Given the description of an element on the screen output the (x, y) to click on. 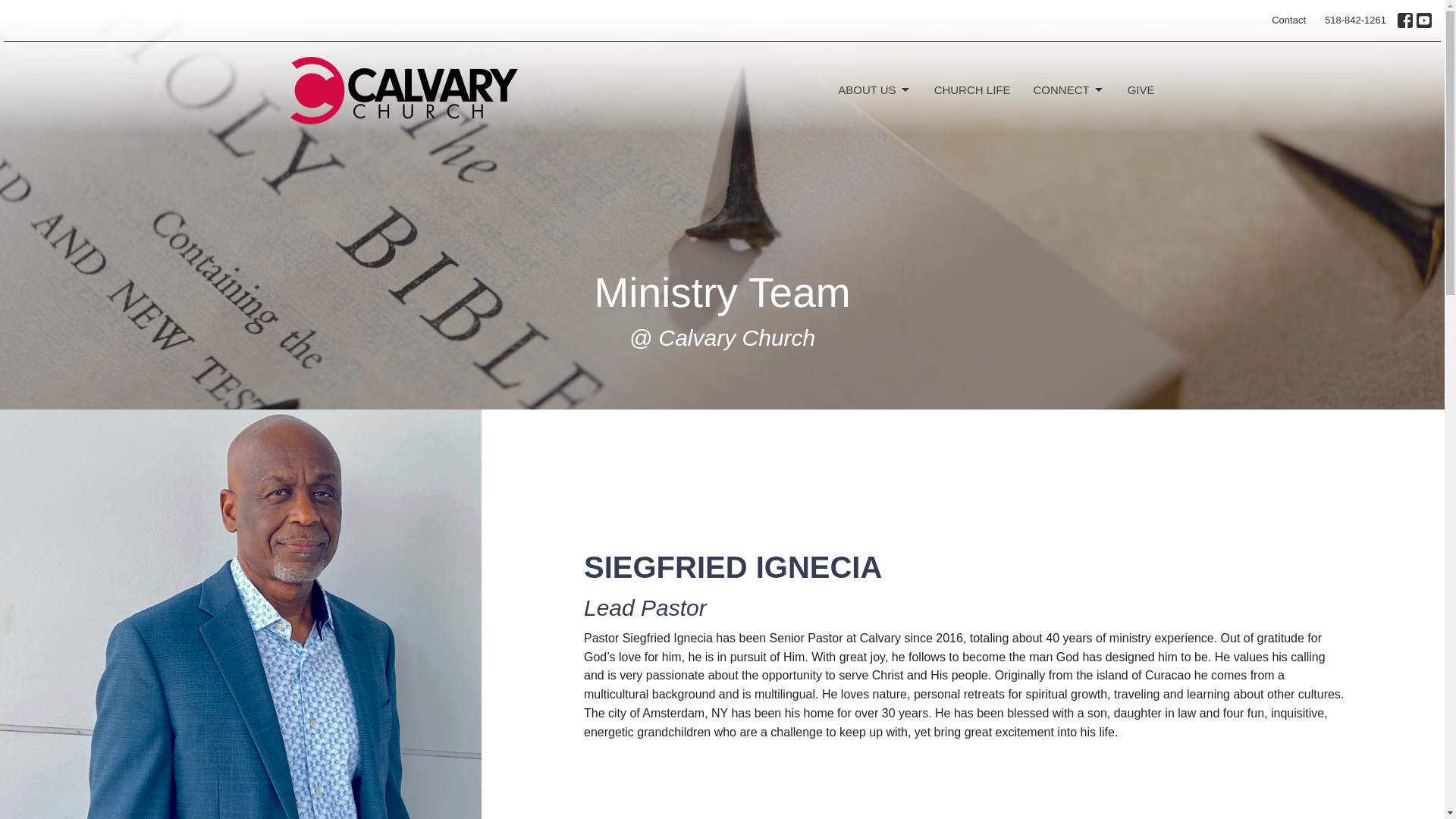
Contact (1288, 20)
ABOUT US (874, 89)
CONNECT (1067, 89)
CHURCH LIFE (972, 89)
GIVE (1140, 89)
518-842-1261 (1355, 20)
